Given the description of an element on the screen output the (x, y) to click on. 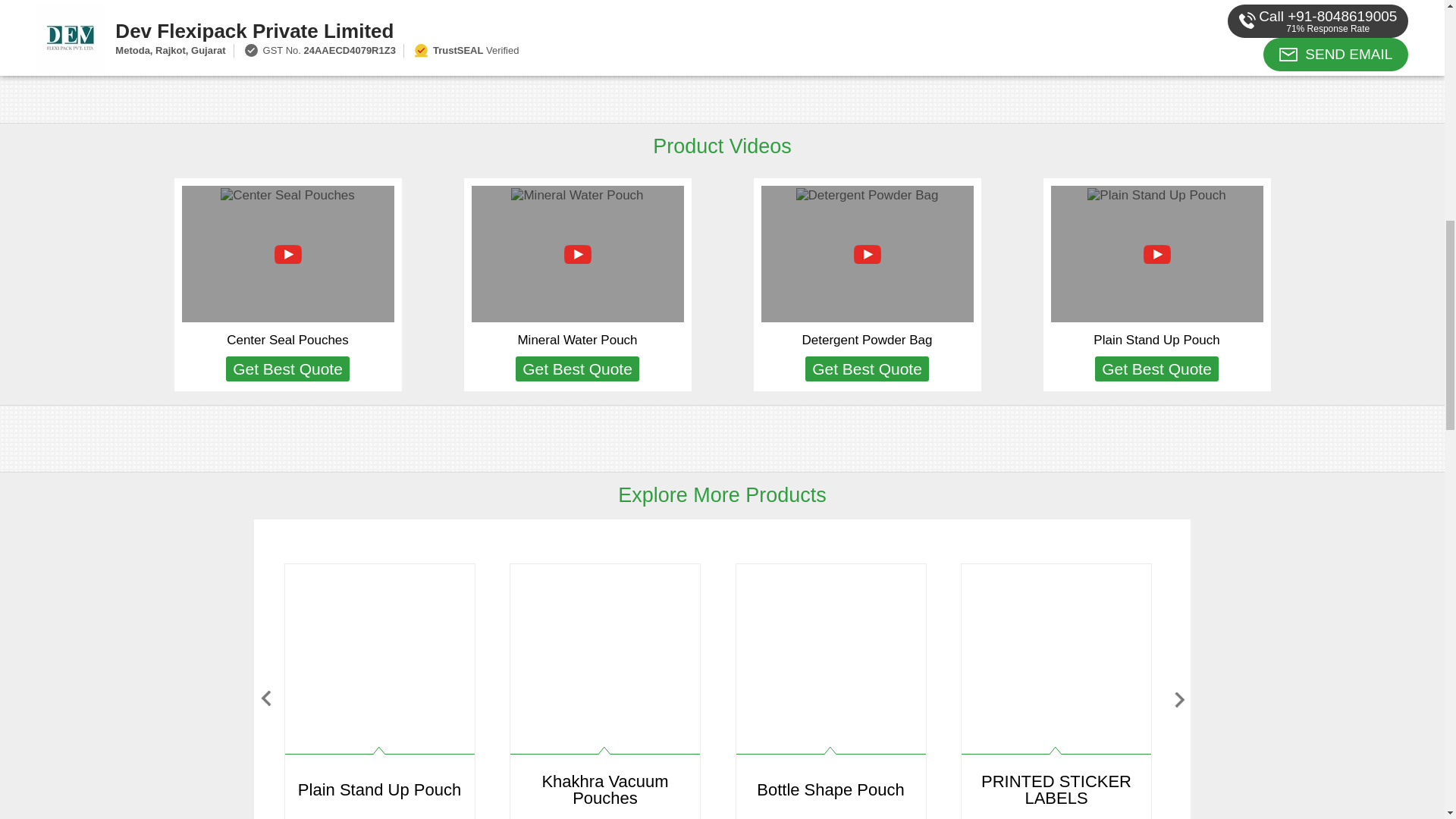
Center Seal Pouches (288, 339)
Detergent Powder Bag (867, 339)
Mineral Water Pouch (576, 339)
Plain Stand Up Pouch (1156, 339)
